Given the description of an element on the screen output the (x, y) to click on. 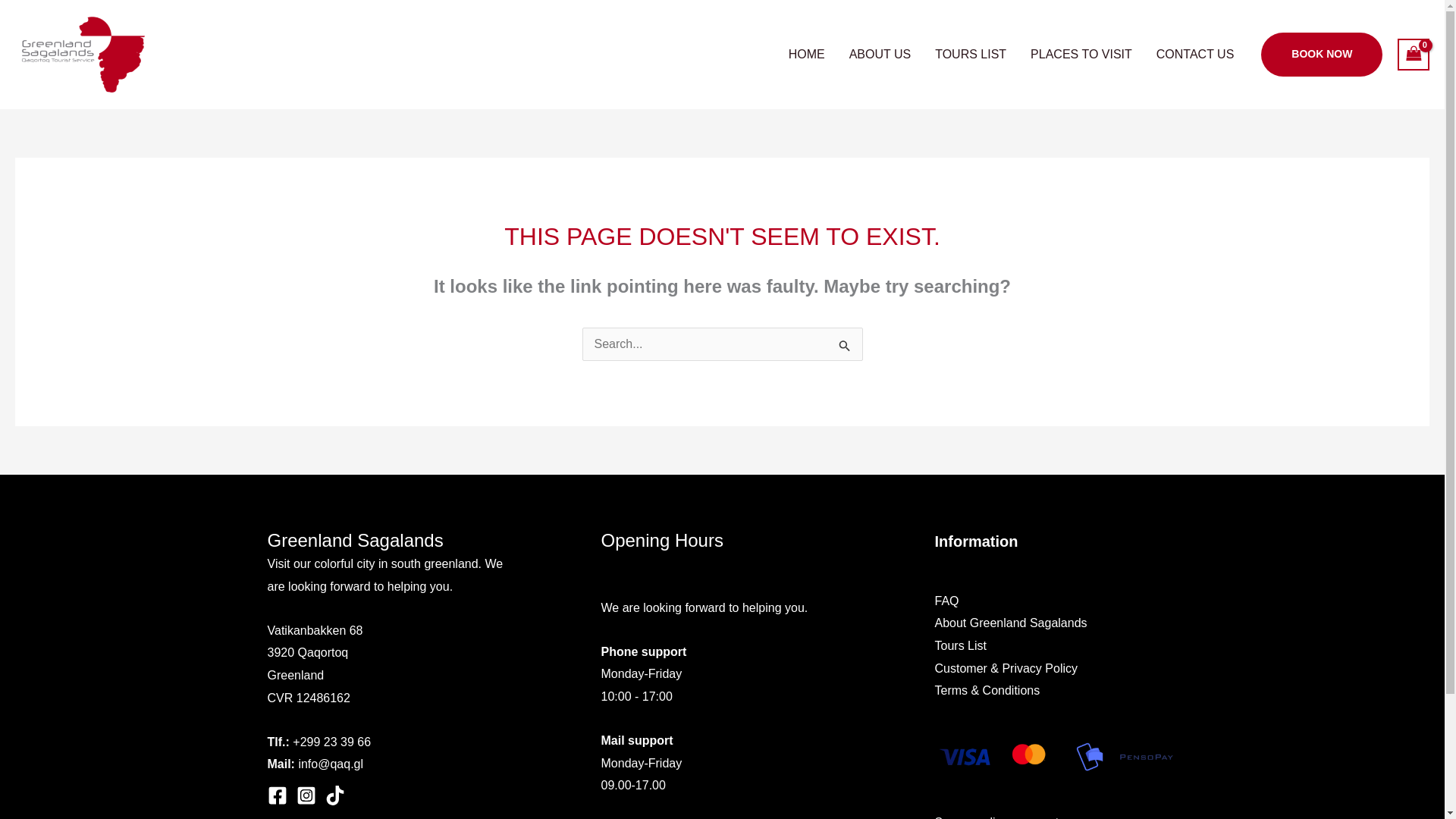
CONTACT US (1195, 54)
FAQ (946, 600)
ABOUT US (880, 54)
About Greenland Sagalands (1010, 622)
HOME (806, 54)
PLACES TO VISIT (1080, 54)
BOOK NOW (1320, 54)
TOURS LIST (970, 54)
Tours List (959, 645)
